Given the description of an element on the screen output the (x, y) to click on. 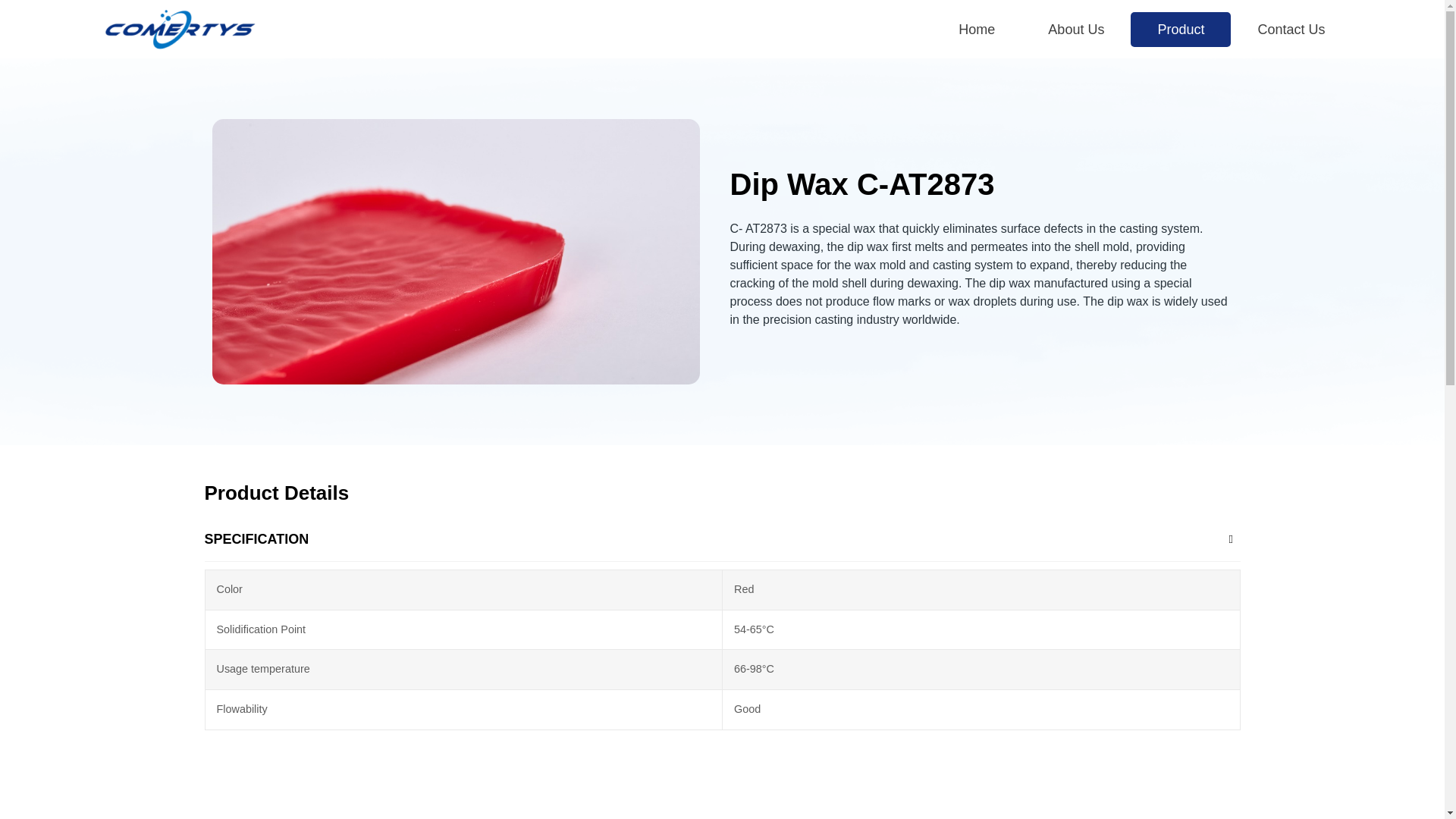
Home (976, 29)
About Us (1075, 29)
Product (1180, 29)
Contact Us (1290, 29)
